Given the description of an element on the screen output the (x, y) to click on. 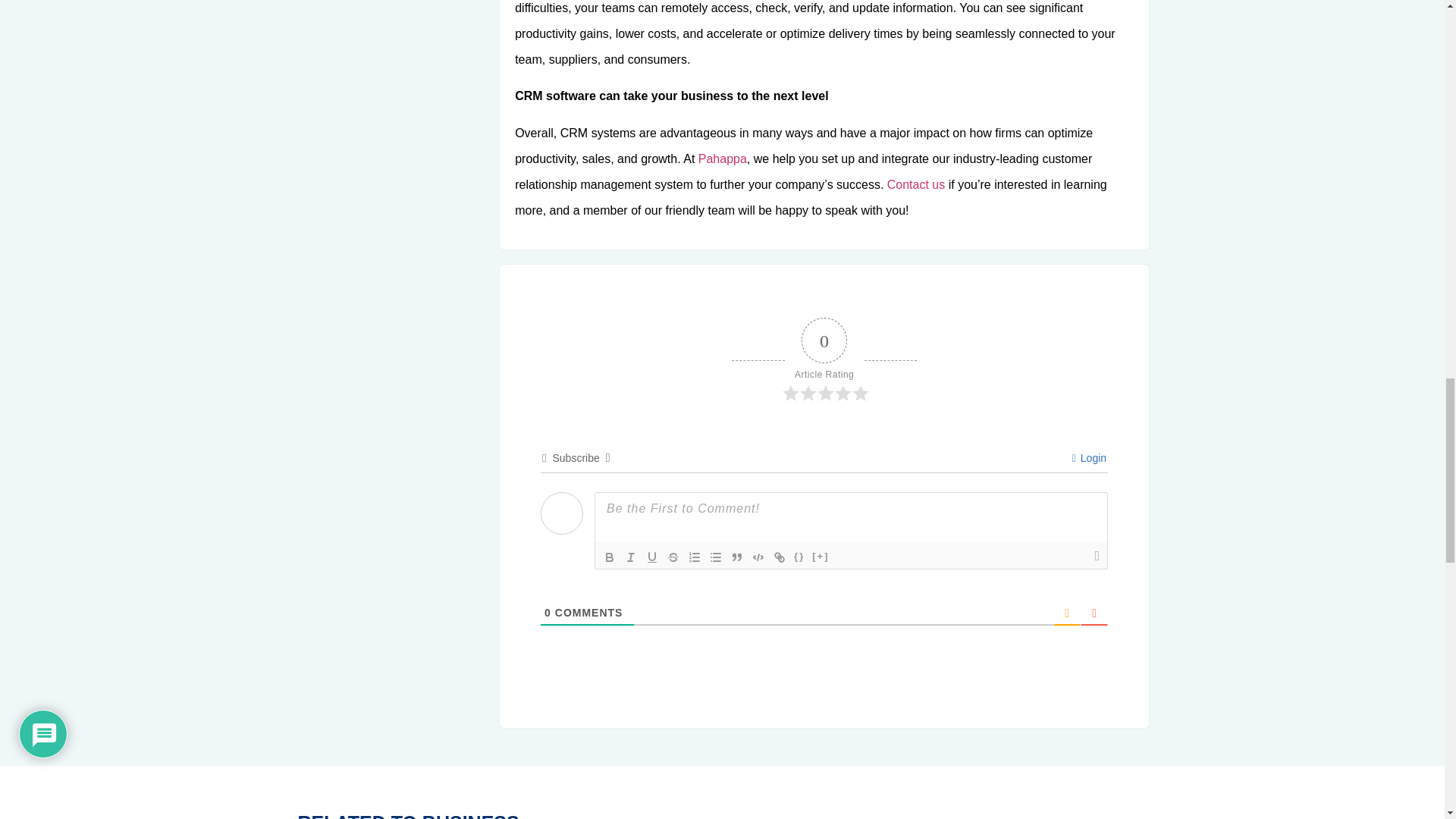
Ordered List (694, 556)
Source Code (799, 556)
Link (779, 556)
Bold (609, 556)
Strike (673, 556)
Underline (652, 556)
Spoiler (820, 556)
Italic (631, 556)
Code Block (758, 556)
Unordered List (715, 556)
Blockquote (737, 556)
